Given the description of an element on the screen output the (x, y) to click on. 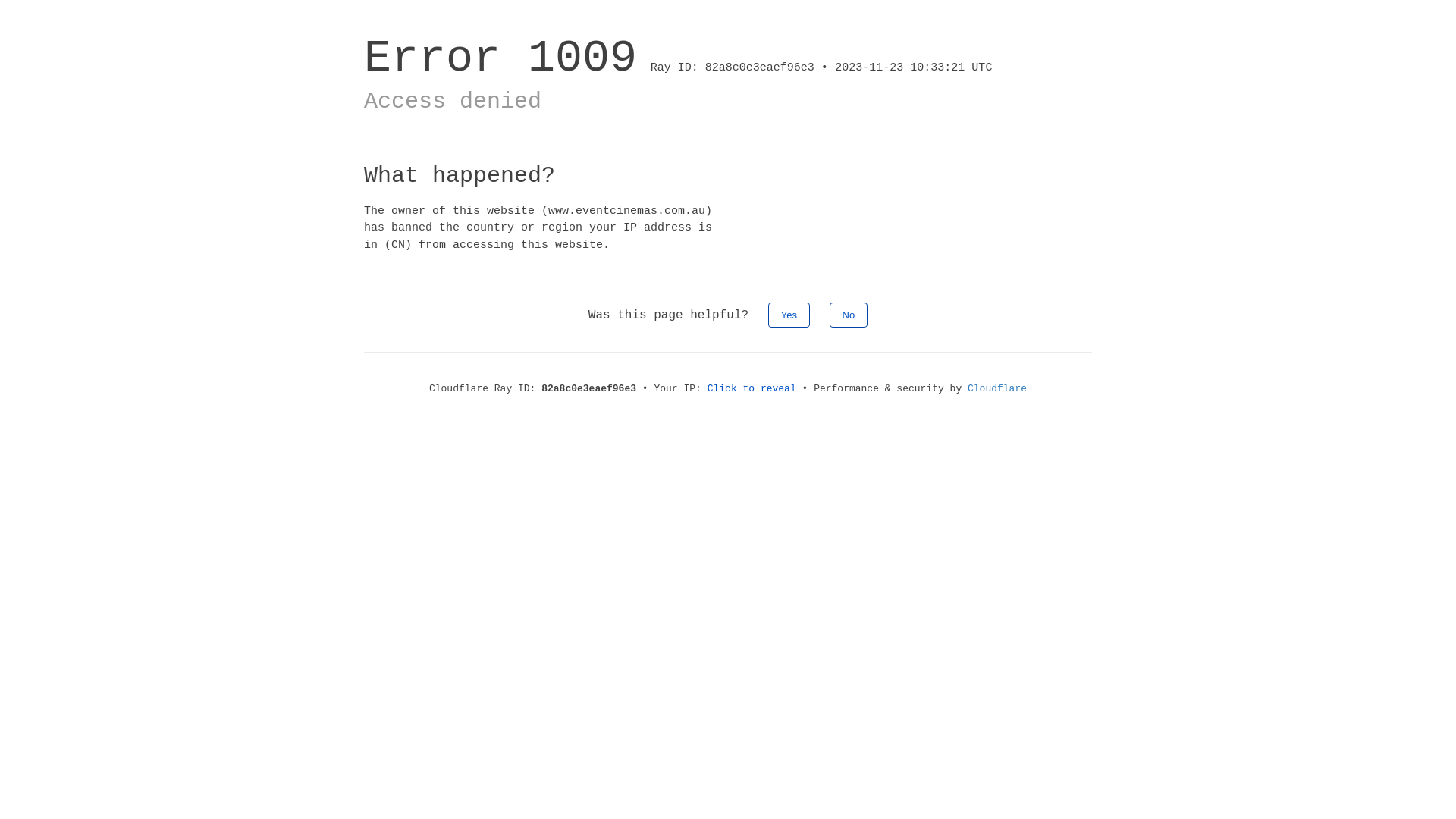
Click to reveal Element type: text (751, 388)
Yes Element type: text (788, 314)
No Element type: text (848, 314)
Cloudflare Element type: text (996, 388)
